Given the description of an element on the screen output the (x, y) to click on. 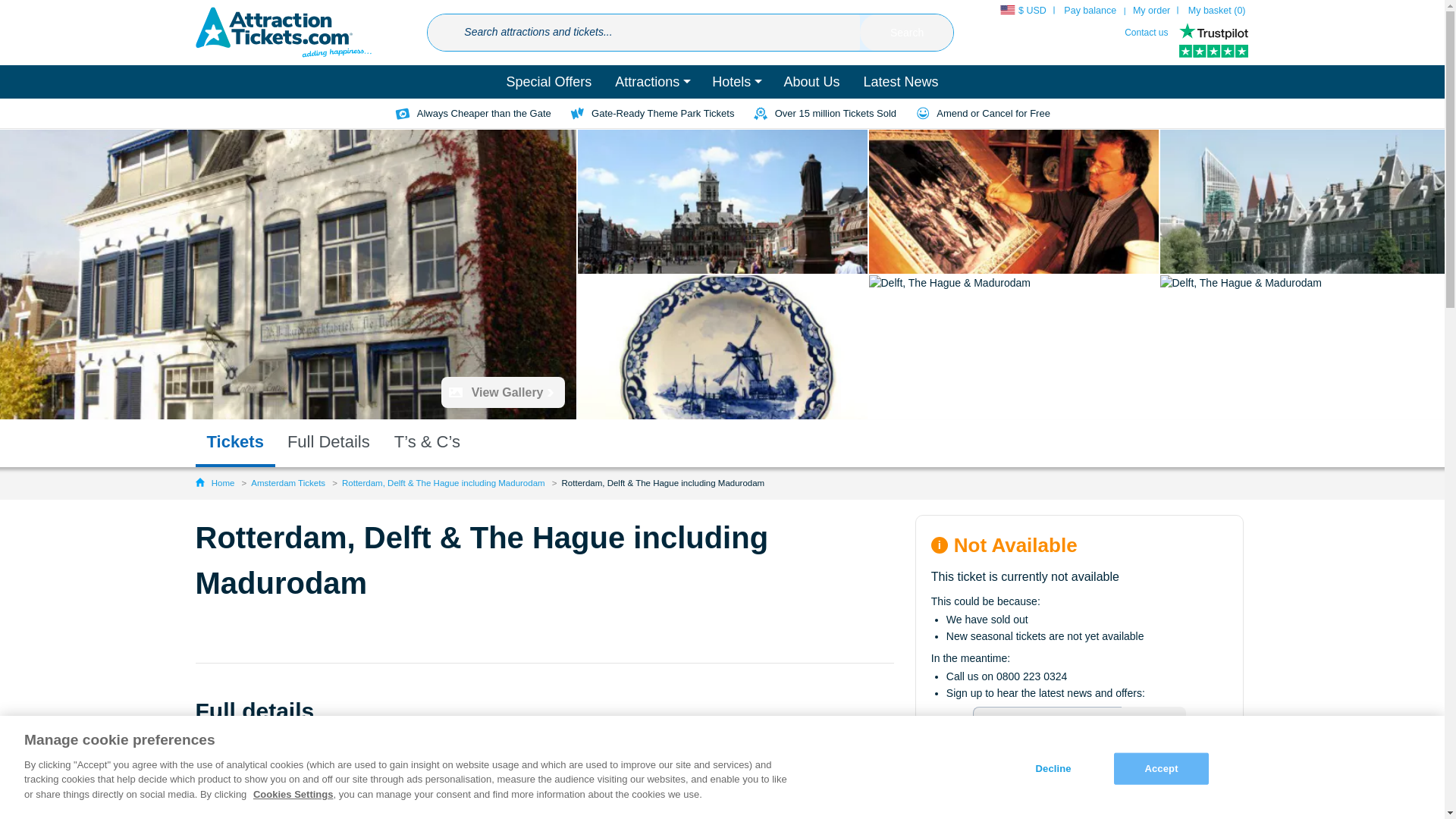
Search (906, 32)
Sign Up (1153, 722)
Latest News (900, 81)
Attractions (651, 81)
Special Offers (549, 81)
Contact us (1145, 32)
Search (906, 32)
Hotels (735, 81)
About Us (810, 81)
